Given the description of an element on the screen output the (x, y) to click on. 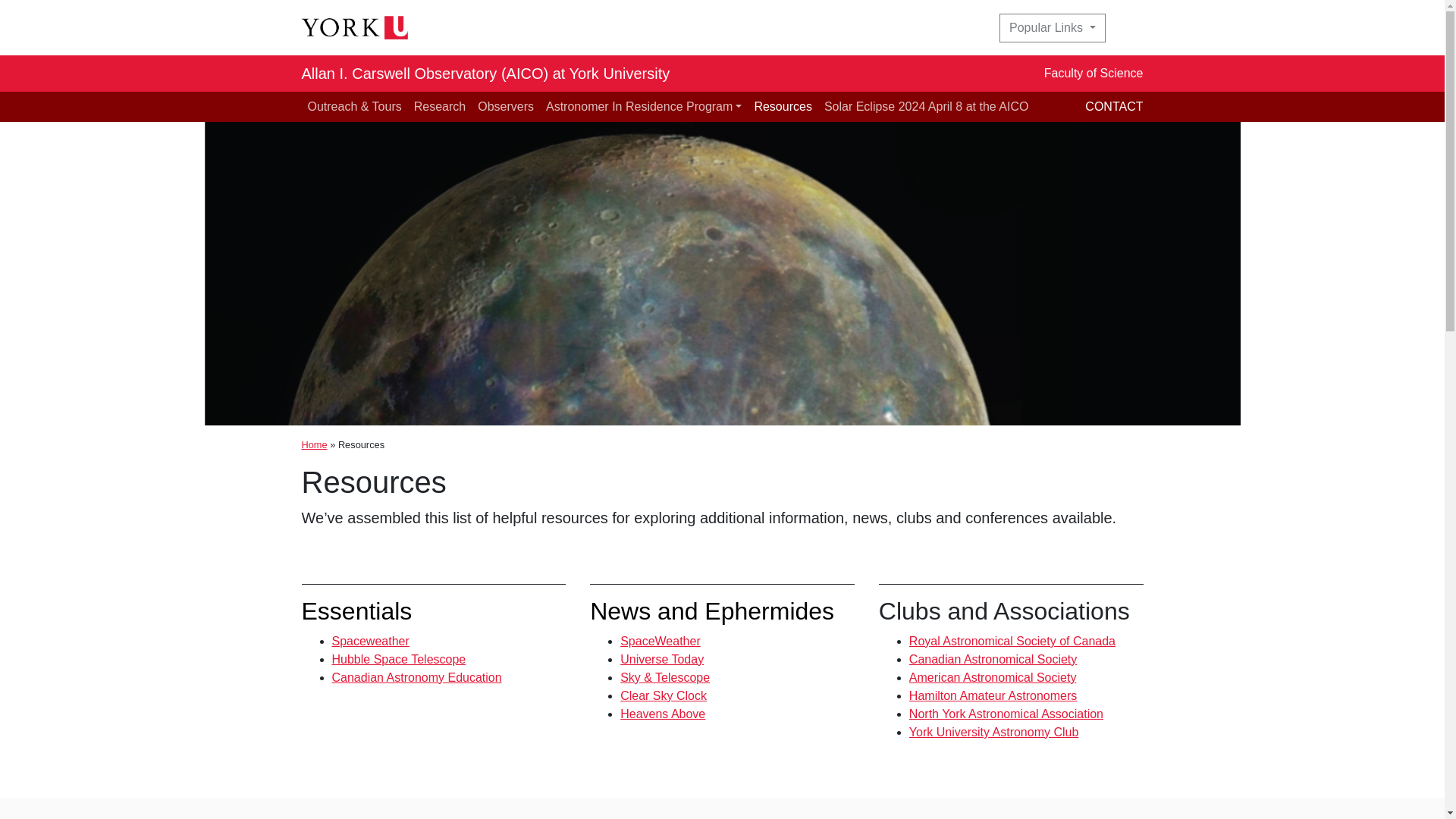
Spaceweather (370, 640)
Hubble Space Telescope (398, 658)
Home (314, 444)
CONTACT (1113, 106)
Canadian Astronomy Education (416, 676)
Canadian Astronomical Society (992, 658)
Heavens Above (662, 713)
Resources (782, 106)
Popular Links (1051, 27)
Clear Sky Clock (663, 695)
